Given the description of an element on the screen output the (x, y) to click on. 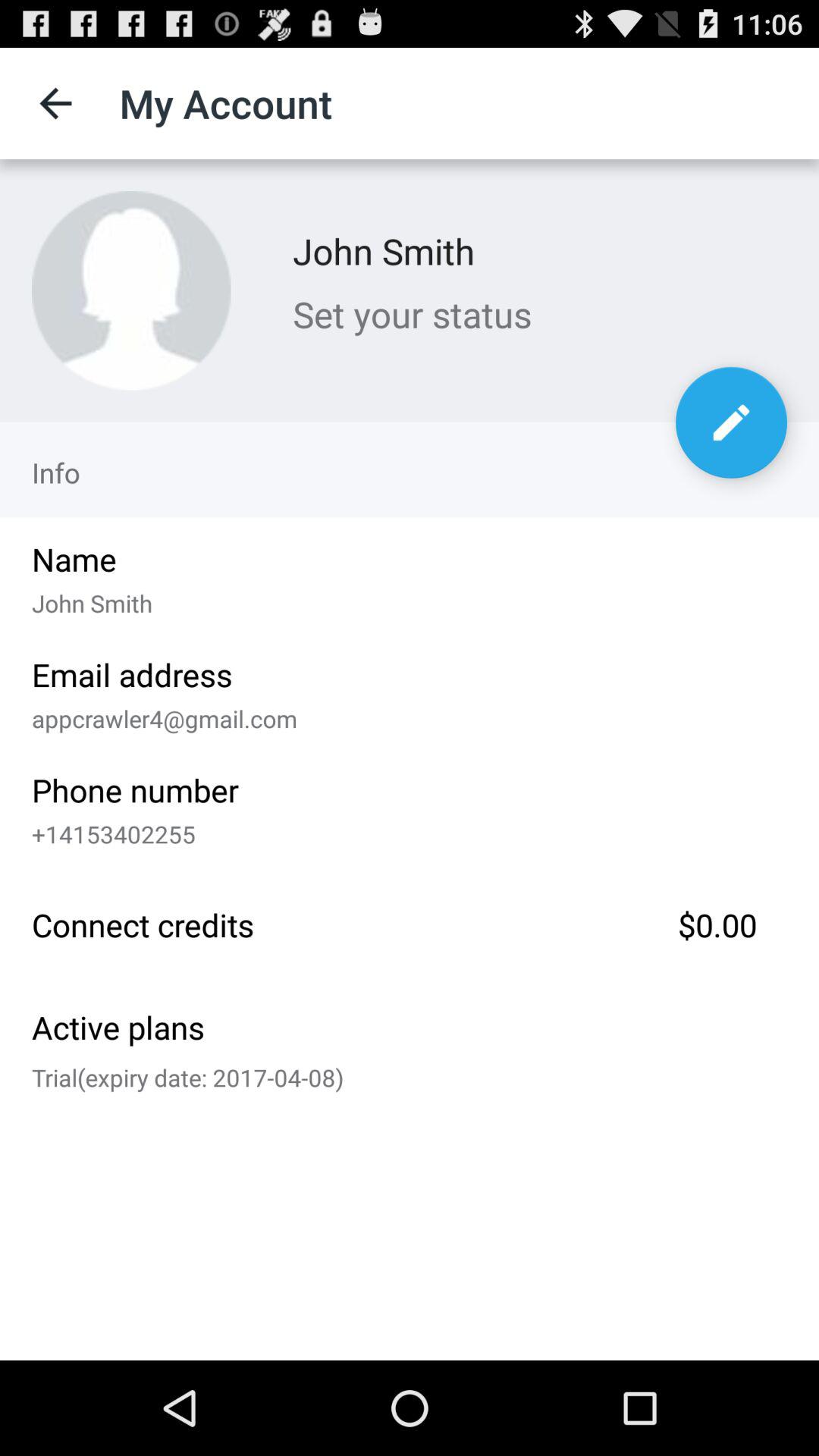
turn off the icon next to the my account item (55, 103)
